Given the description of an element on the screen output the (x, y) to click on. 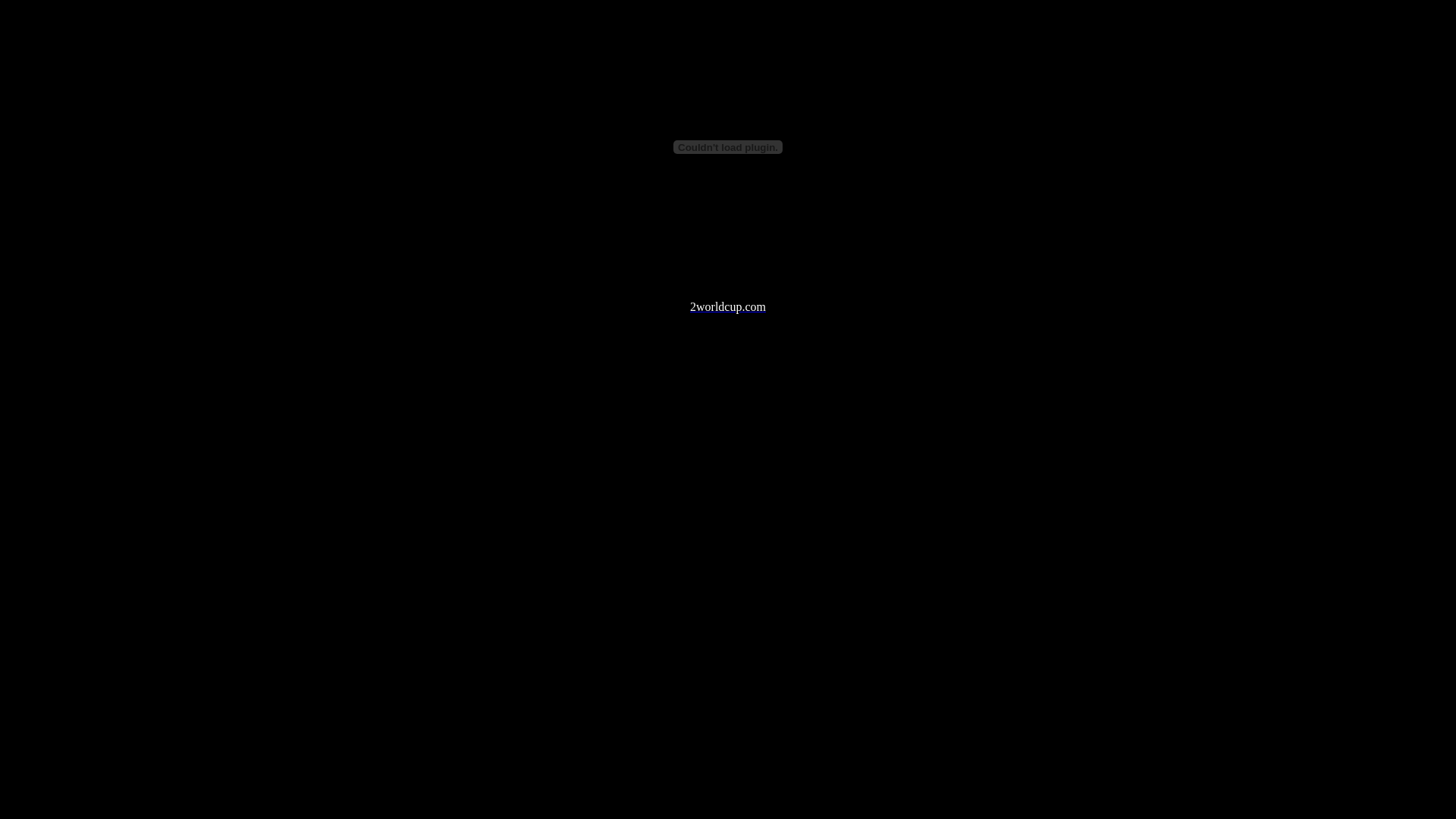
2worldcup.com Element type: text (727, 306)
